Given the description of an element on the screen output the (x, y) to click on. 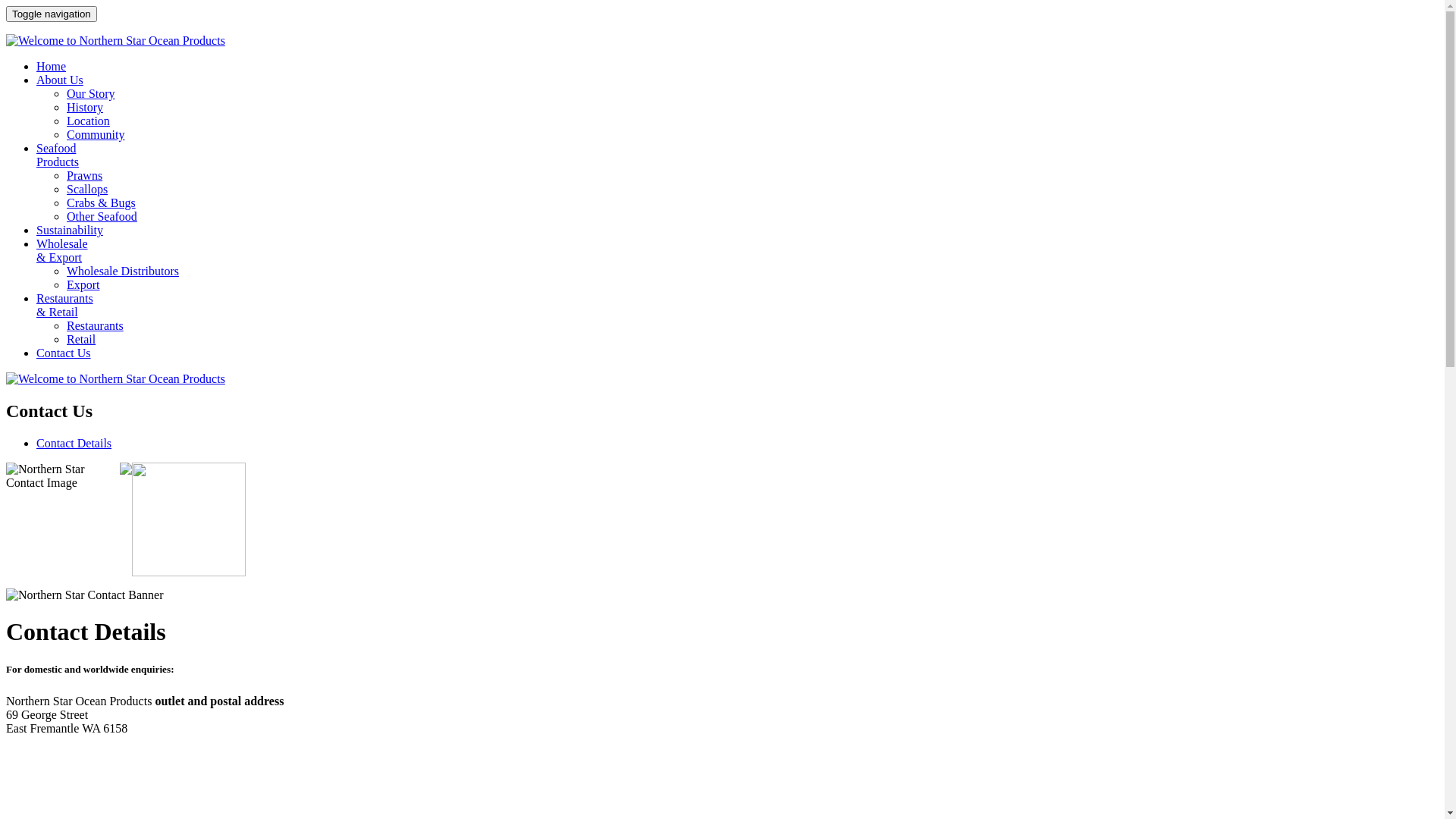
Export Element type: text (83, 284)
Our Story Element type: text (90, 93)
Community Element type: text (95, 134)
Northern Star Contact Banner Element type: hover (84, 595)
About Us Element type: text (59, 79)
Seafood
Products Element type: text (57, 154)
Other Seafood Element type: text (101, 216)
Home Element type: text (50, 65)
Restaurants
& Retail Element type: text (64, 304)
Prawns Element type: text (84, 175)
Scallops Element type: text (86, 188)
Toggle navigation Element type: text (51, 13)
Restaurants Element type: text (94, 325)
Location Element type: text (87, 120)
Retail Element type: text (80, 338)
History Element type: text (84, 106)
Contact Us Element type: text (63, 352)
Sustainability Element type: text (69, 229)
Wholesale
& Export Element type: text (61, 250)
Contact Details Element type: text (73, 442)
Wholesale Distributors Element type: text (122, 270)
Crabs & Bugs Element type: text (100, 202)
Northern Star Contact Image Element type: hover (62, 519)
